Given the description of an element on the screen output the (x, y) to click on. 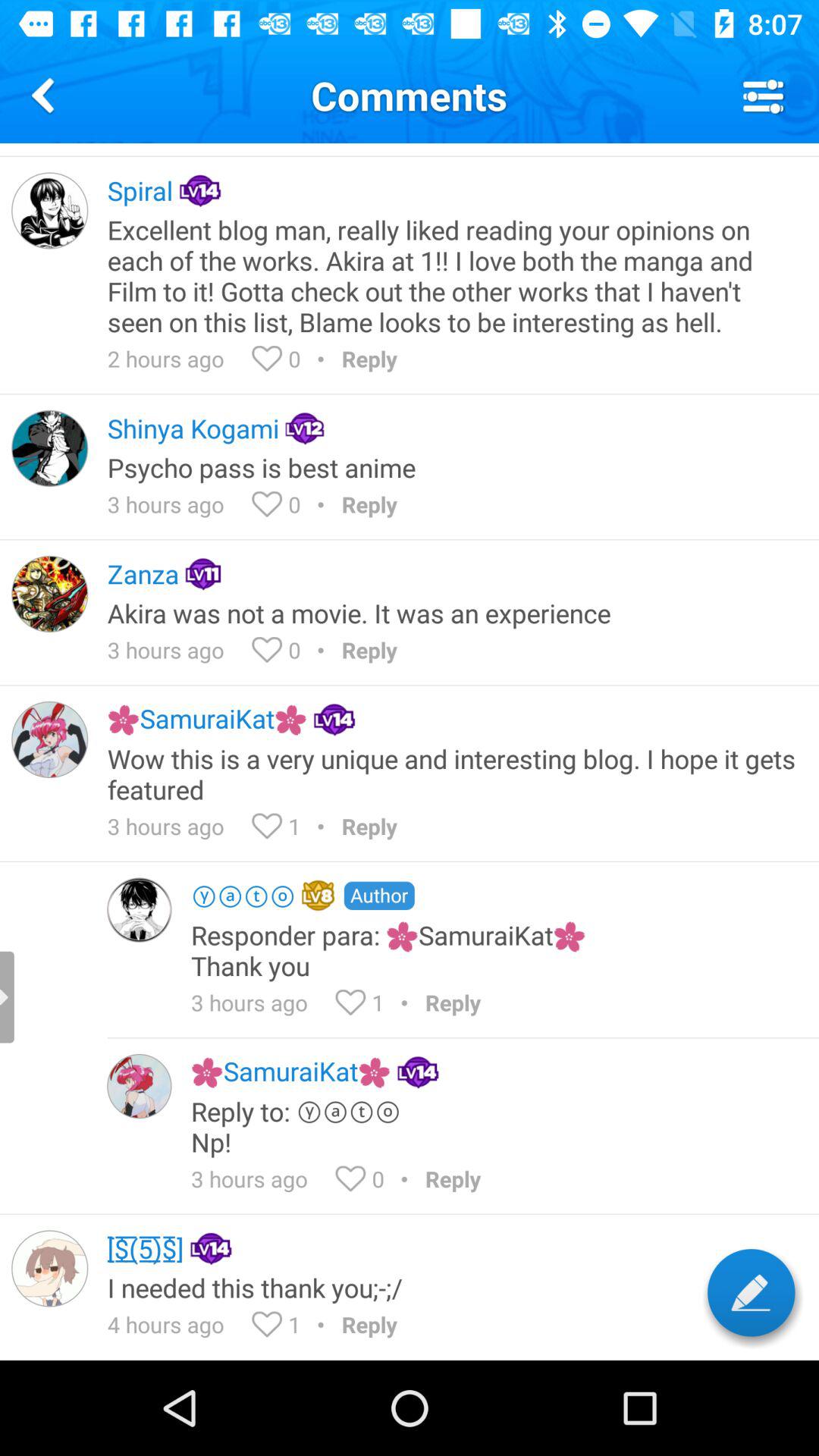
choose icon above 3 hours ago app (453, 467)
